Given the description of an element on the screen output the (x, y) to click on. 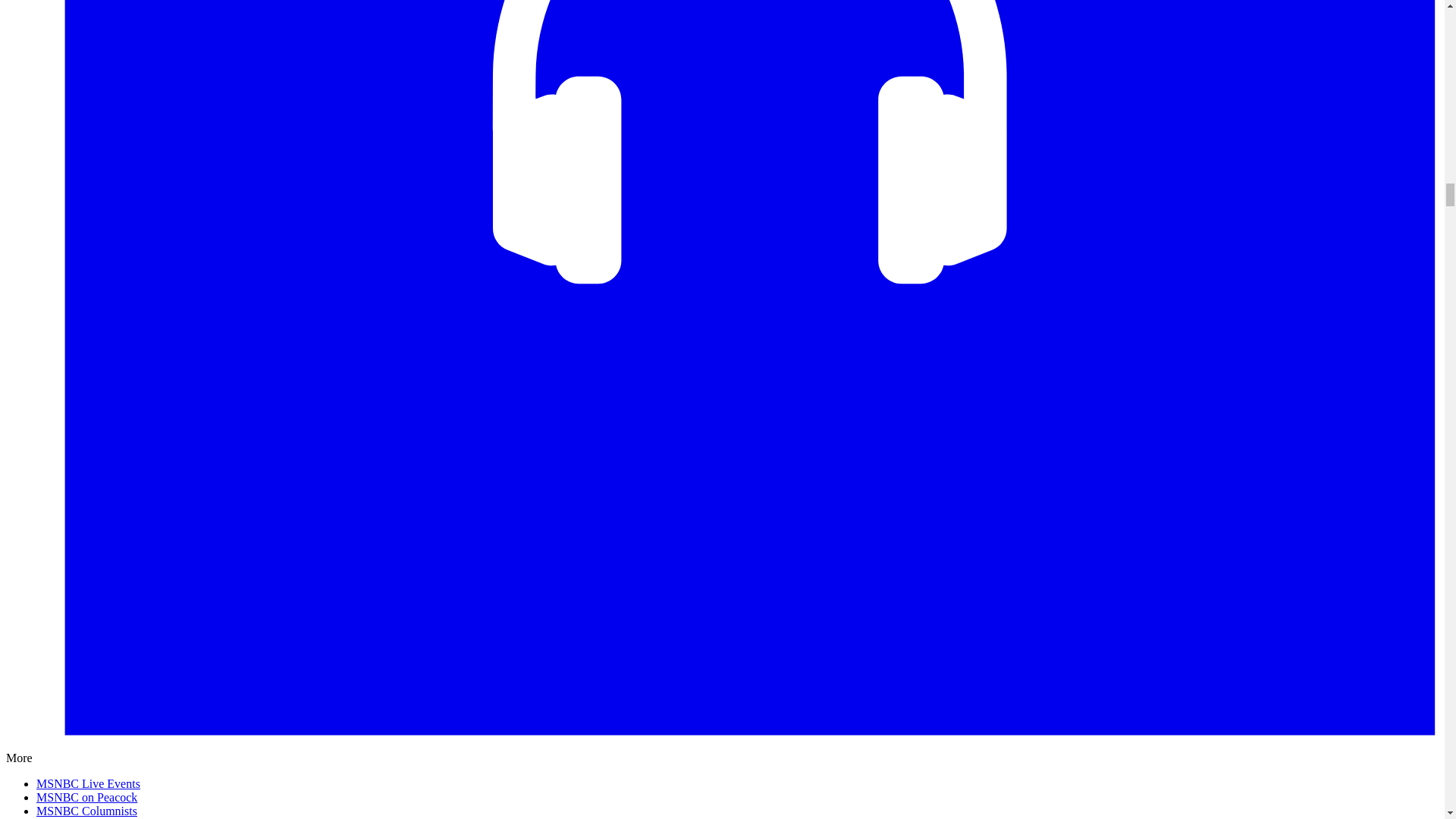
MSNBC on Peacock (86, 797)
MSNBC Live Events (87, 783)
